Given the description of an element on the screen output the (x, y) to click on. 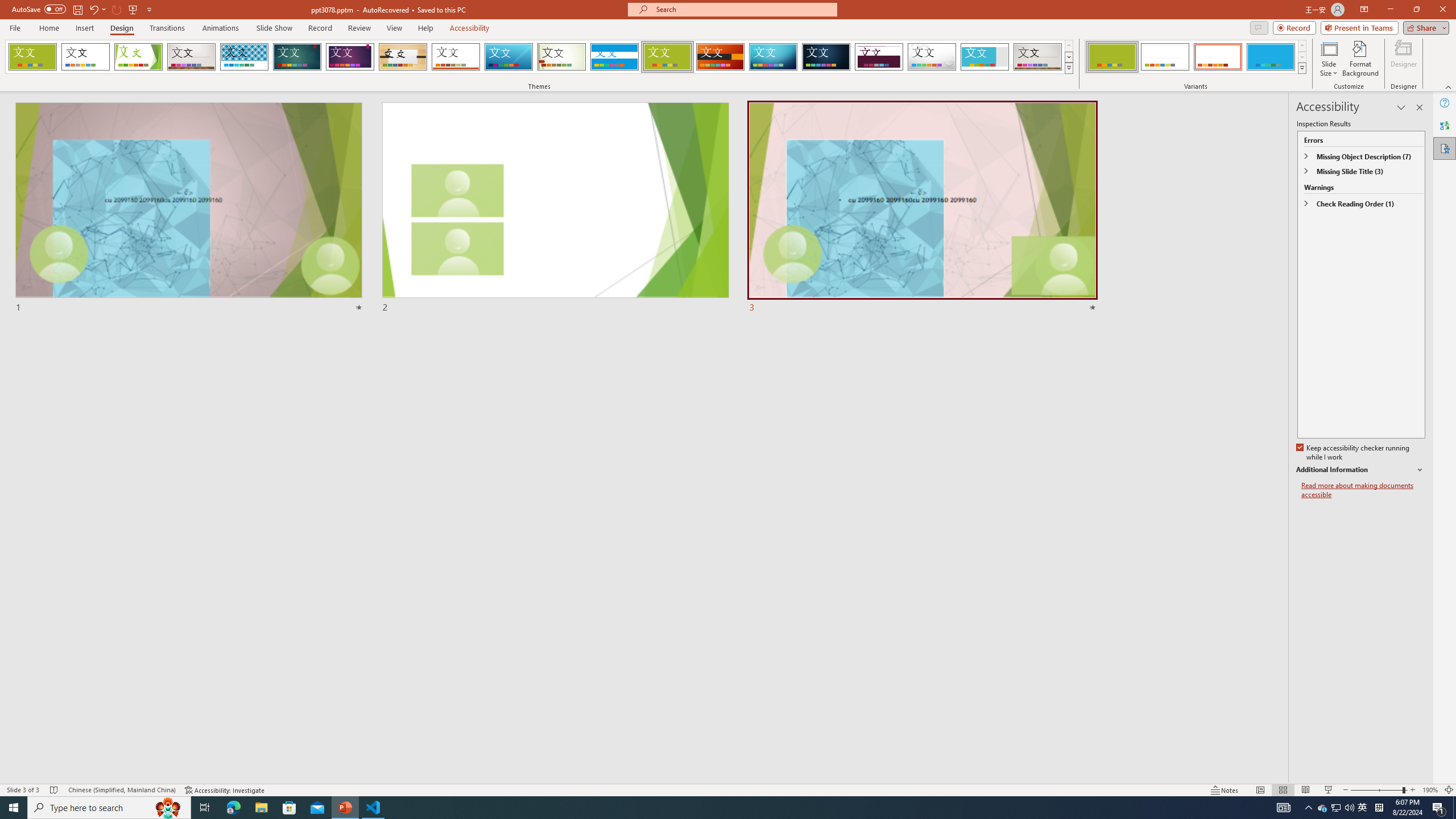
Keep accessibility checker running while I work (1353, 452)
Zoom 190% (1430, 790)
AutomationID: SlideThemesGallery (539, 56)
Gallery (1037, 56)
Retrospect (455, 56)
Droplet (931, 56)
